Given the description of an element on the screen output the (x, y) to click on. 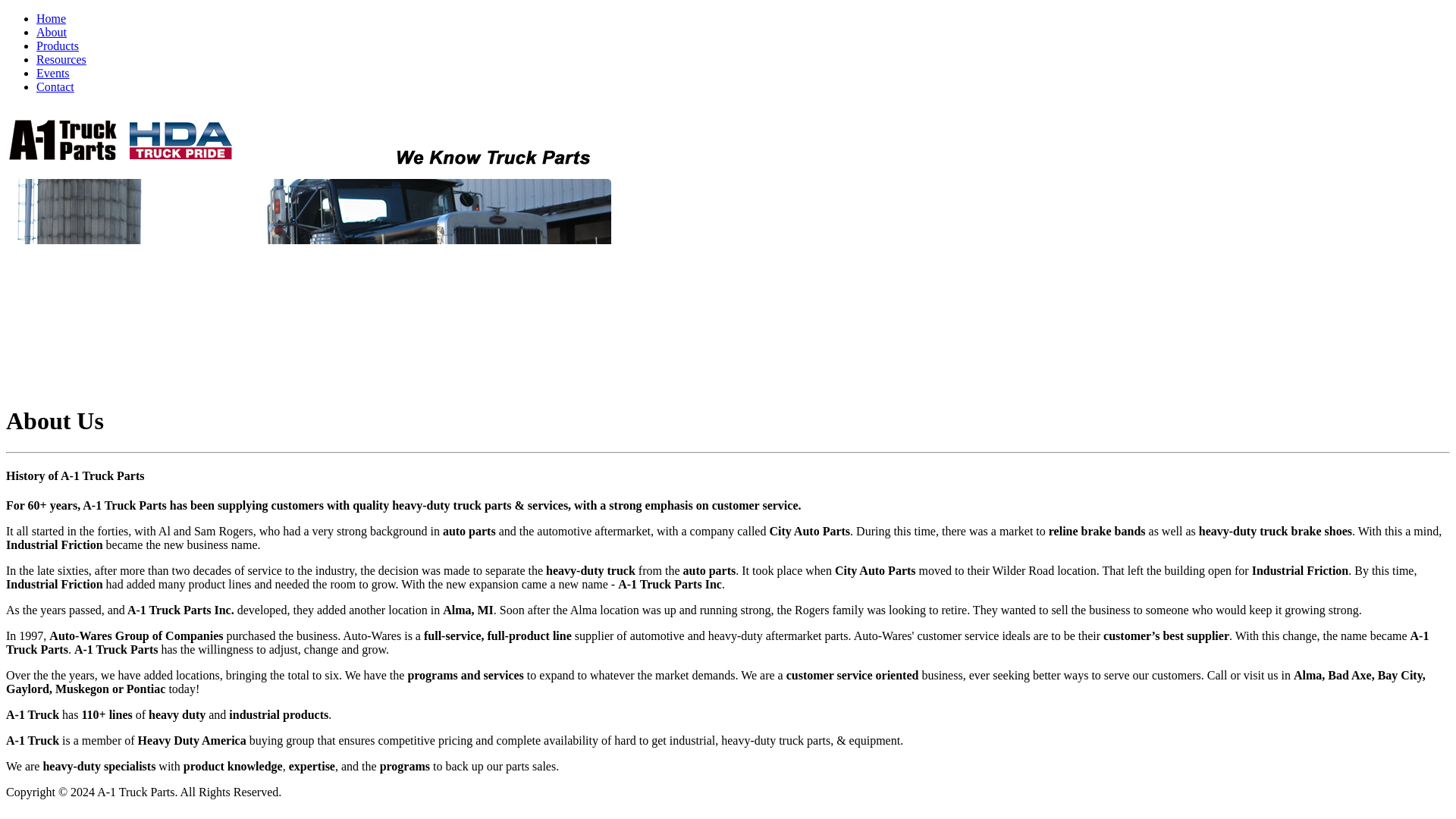
Resources (60, 59)
Home (50, 18)
About (51, 31)
Events (52, 72)
Contact (55, 86)
Products (57, 45)
